Given the description of an element on the screen output the (x, y) to click on. 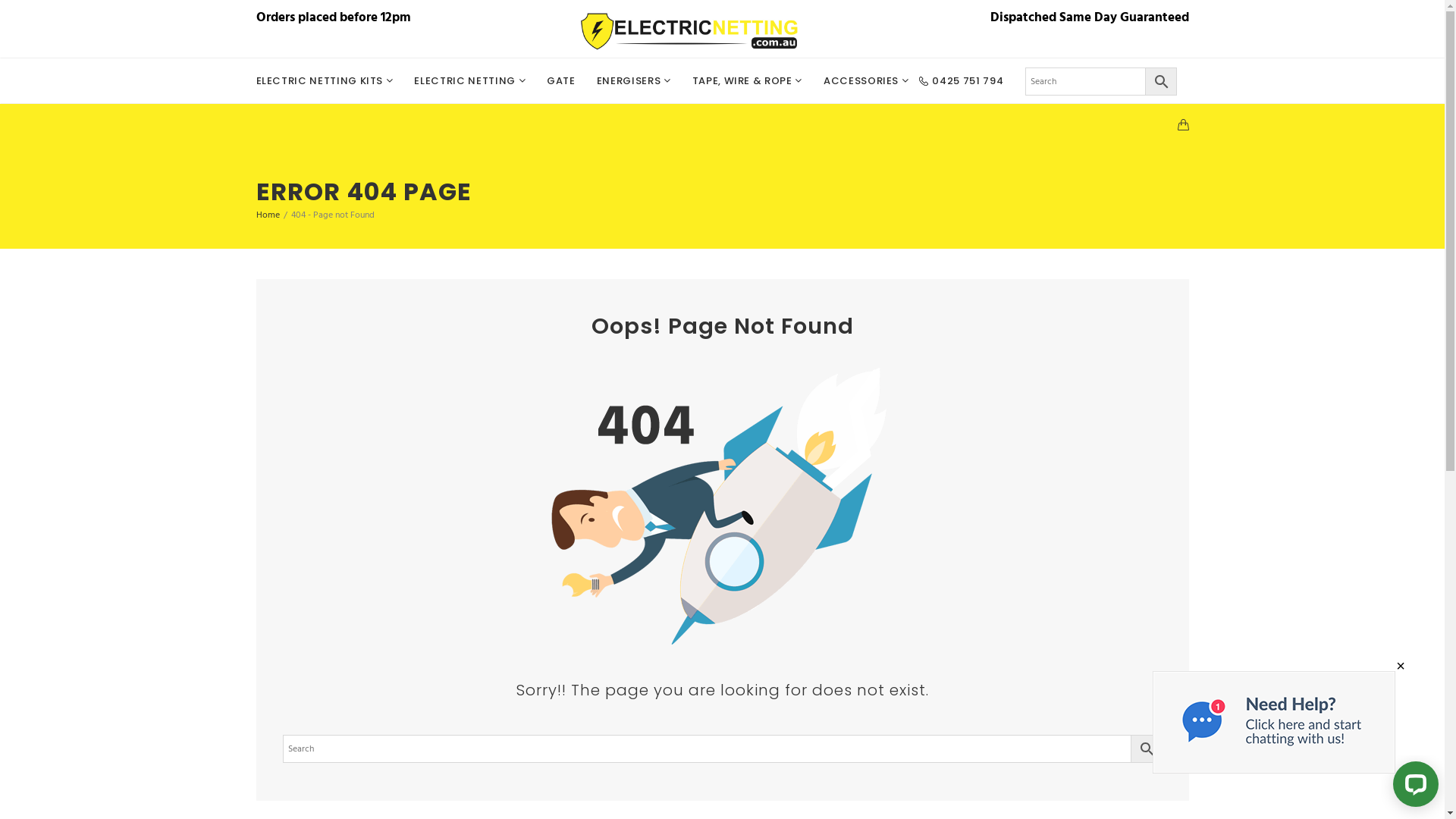
TAPE, WIRE & ROPE Element type: text (746, 80)
ELECTRIC NETTING Element type: text (469, 80)
ELECTRIC NETTING KITS Element type: text (330, 80)
0425 751 794 Element type: text (967, 80)
ENERGISERS Element type: text (633, 80)
ACCESSORIES Element type: text (865, 80)
GATE Element type: text (561, 80)
Home Element type: text (267, 214)
